Given the description of an element on the screen output the (x, y) to click on. 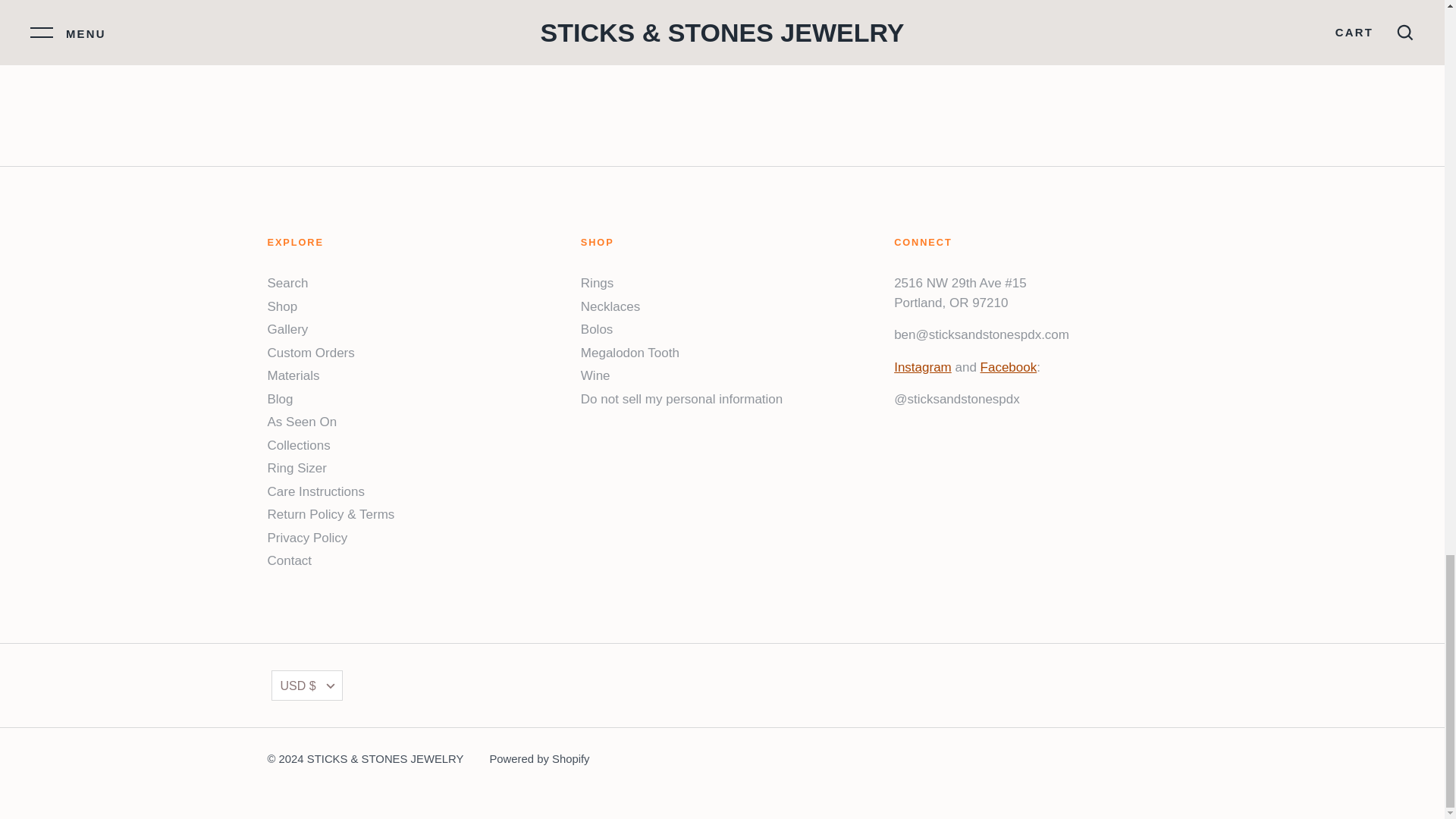
Down (330, 686)
